Given the description of an element on the screen output the (x, y) to click on. 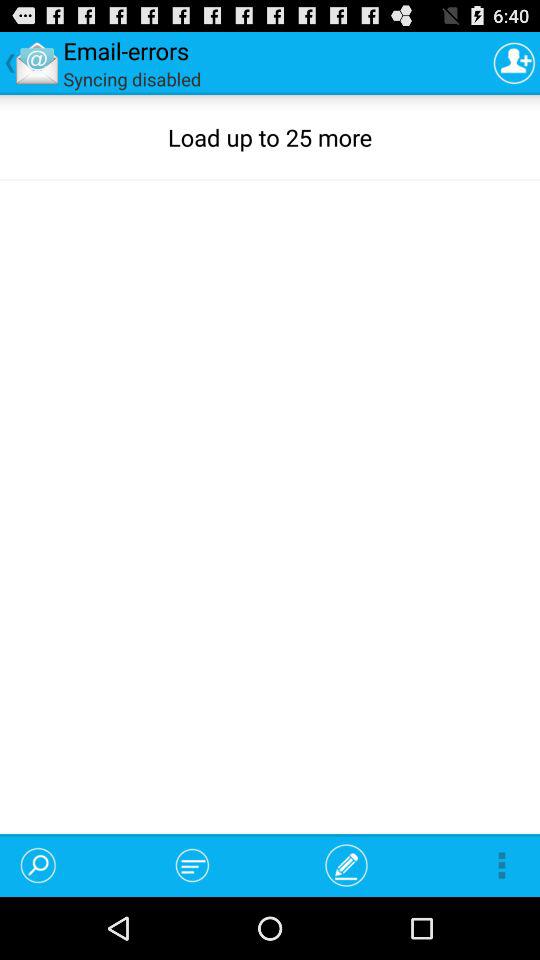
press item below the load up to (192, 864)
